Given the description of an element on the screen output the (x, y) to click on. 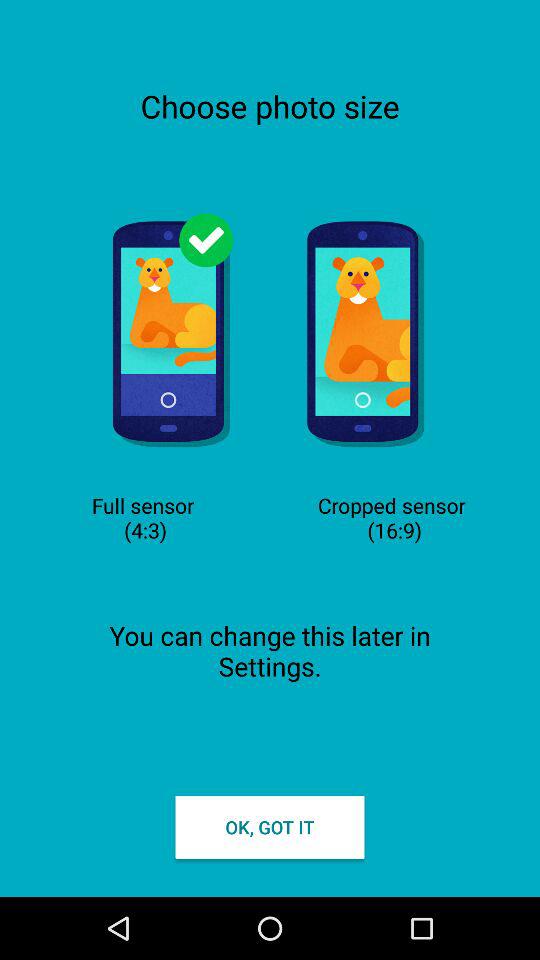
choose the item below you can change app (269, 826)
